Given the description of an element on the screen output the (x, y) to click on. 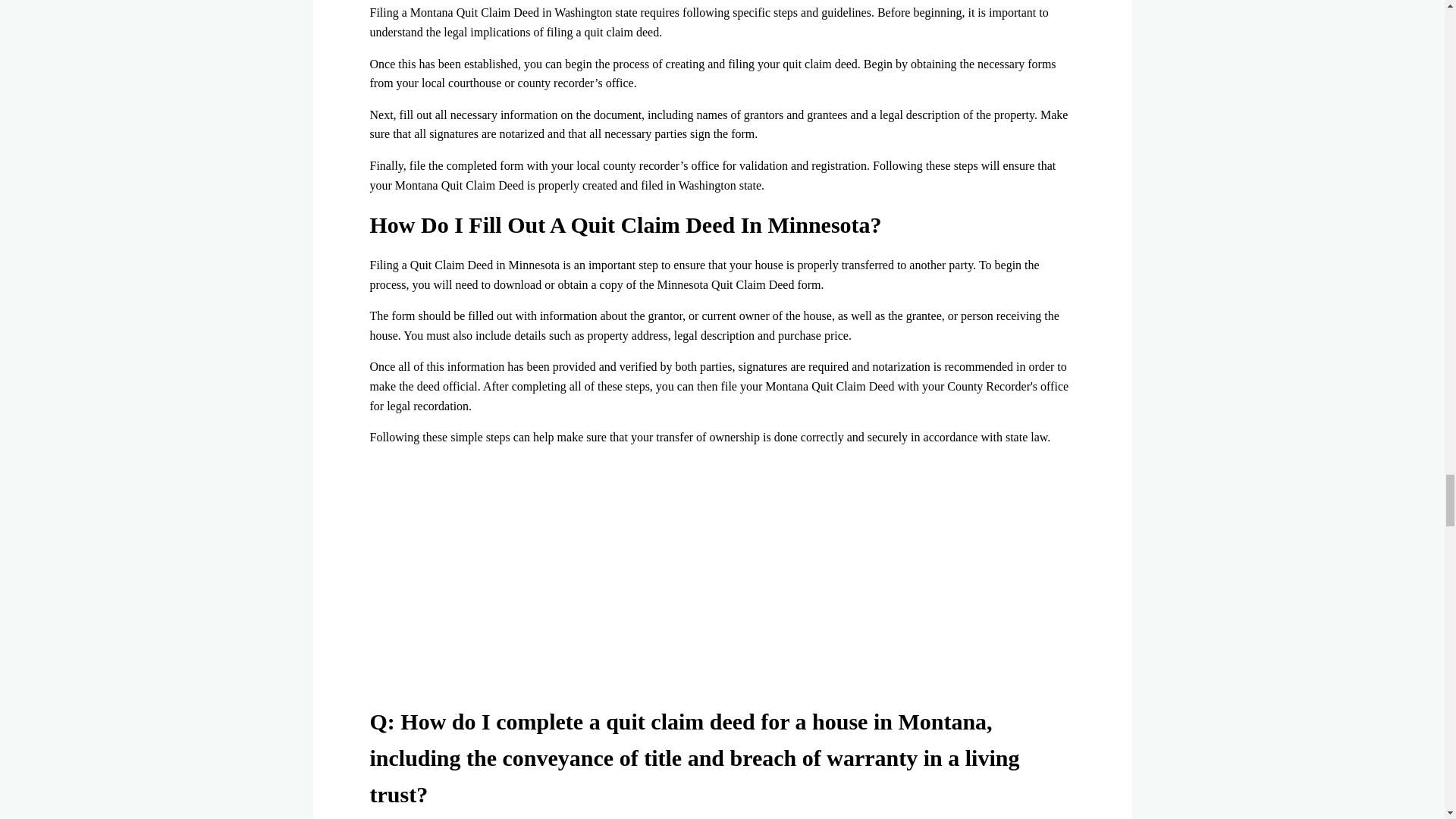
YouTube video player (721, 578)
